Given the description of an element on the screen output the (x, y) to click on. 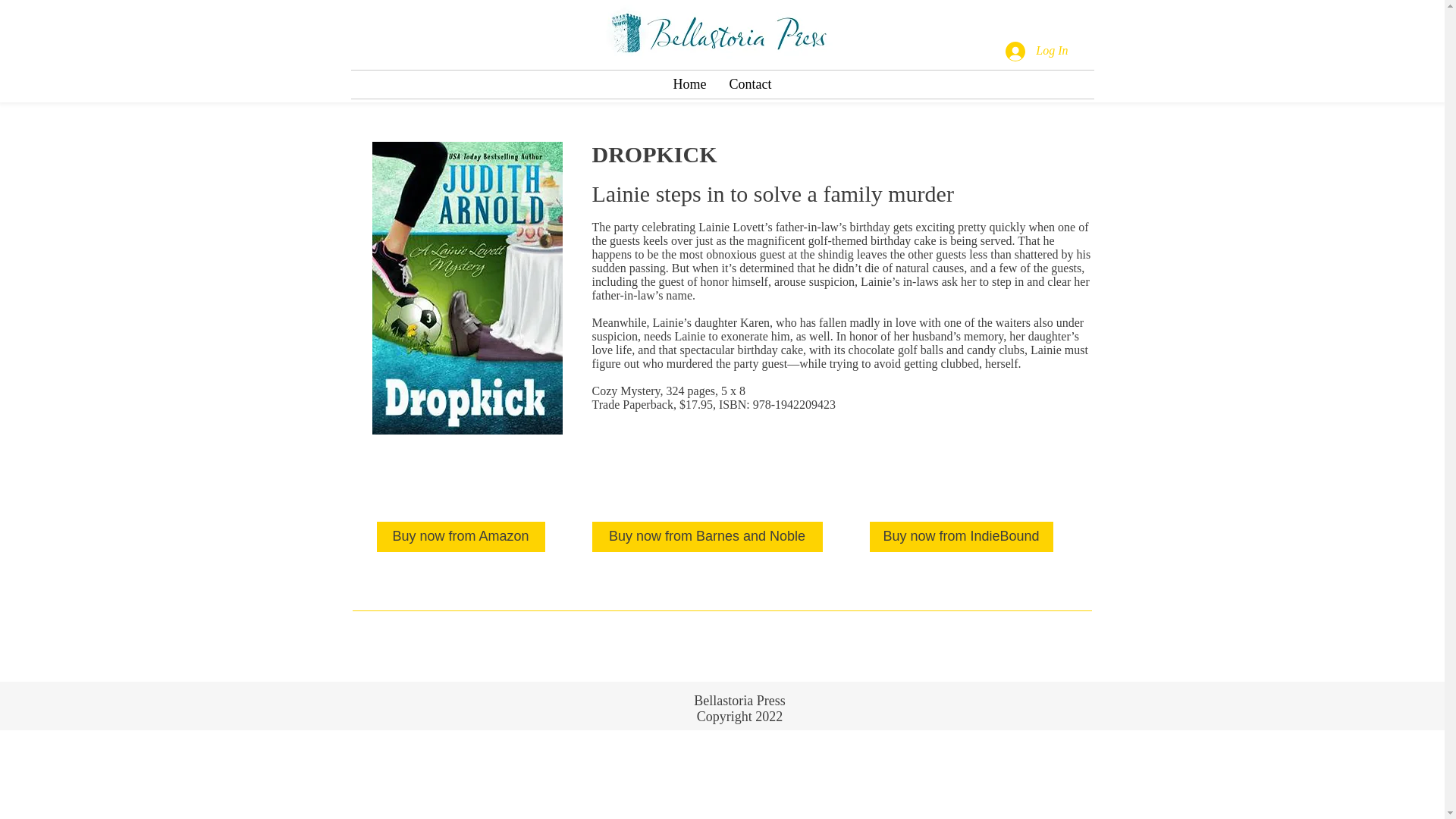
Buy now from Barnes and Noble (706, 536)
Log In (1036, 50)
Home (689, 84)
Buy now from Amazon (459, 536)
Buy now from IndieBound (960, 536)
Contact (750, 84)
